Given the description of an element on the screen output the (x, y) to click on. 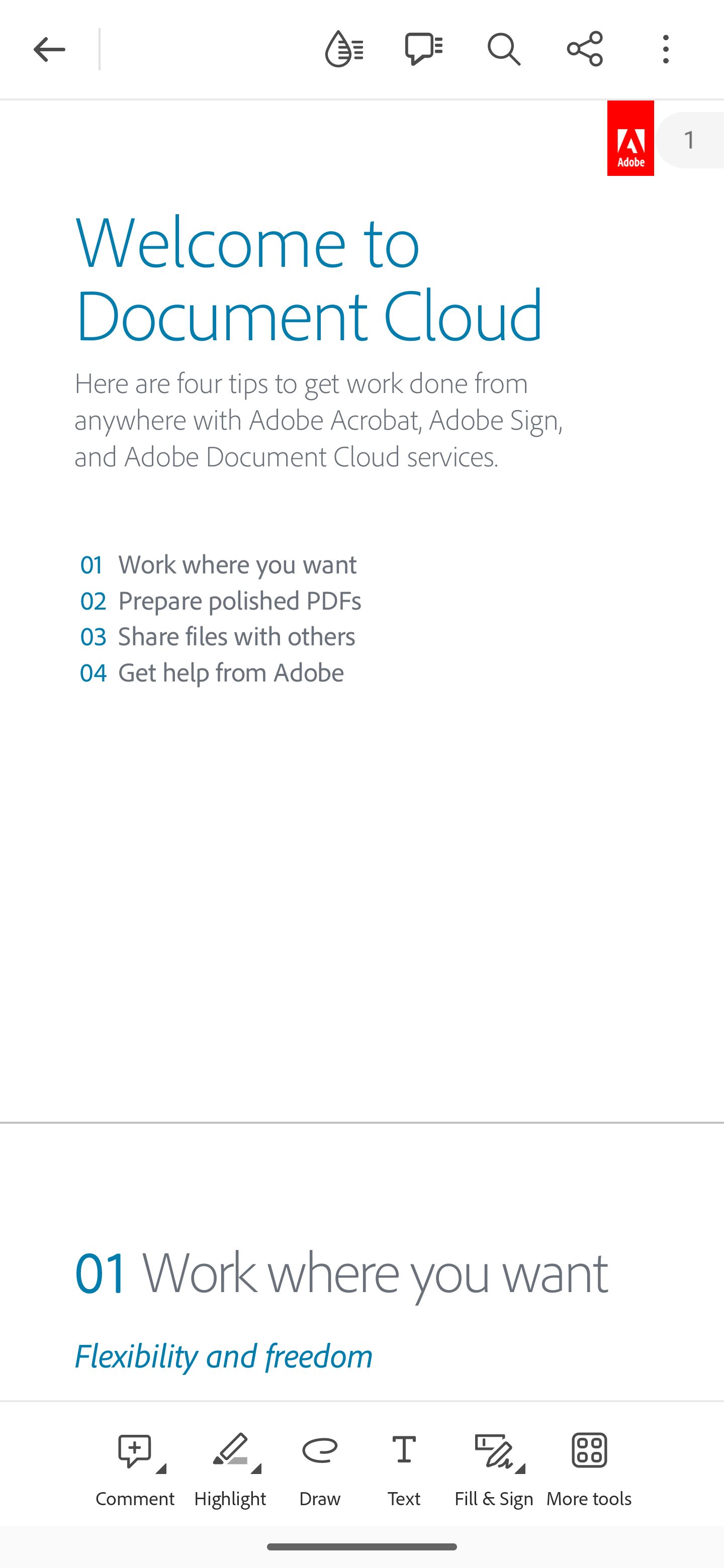
Back (49, 49)
Turn on Liquid Mode (343, 48)
Find keyword in document (503, 48)
Share this document with others (584, 48)
More options (665, 48)
Comments (423, 48)
Comment (134, 1463)
Highlight (229, 1463)
Draw (319, 1463)
Text (404, 1463)
Fill & Sign (493, 1463)
More tools (588, 1463)
